Given the description of an element on the screen output the (x, y) to click on. 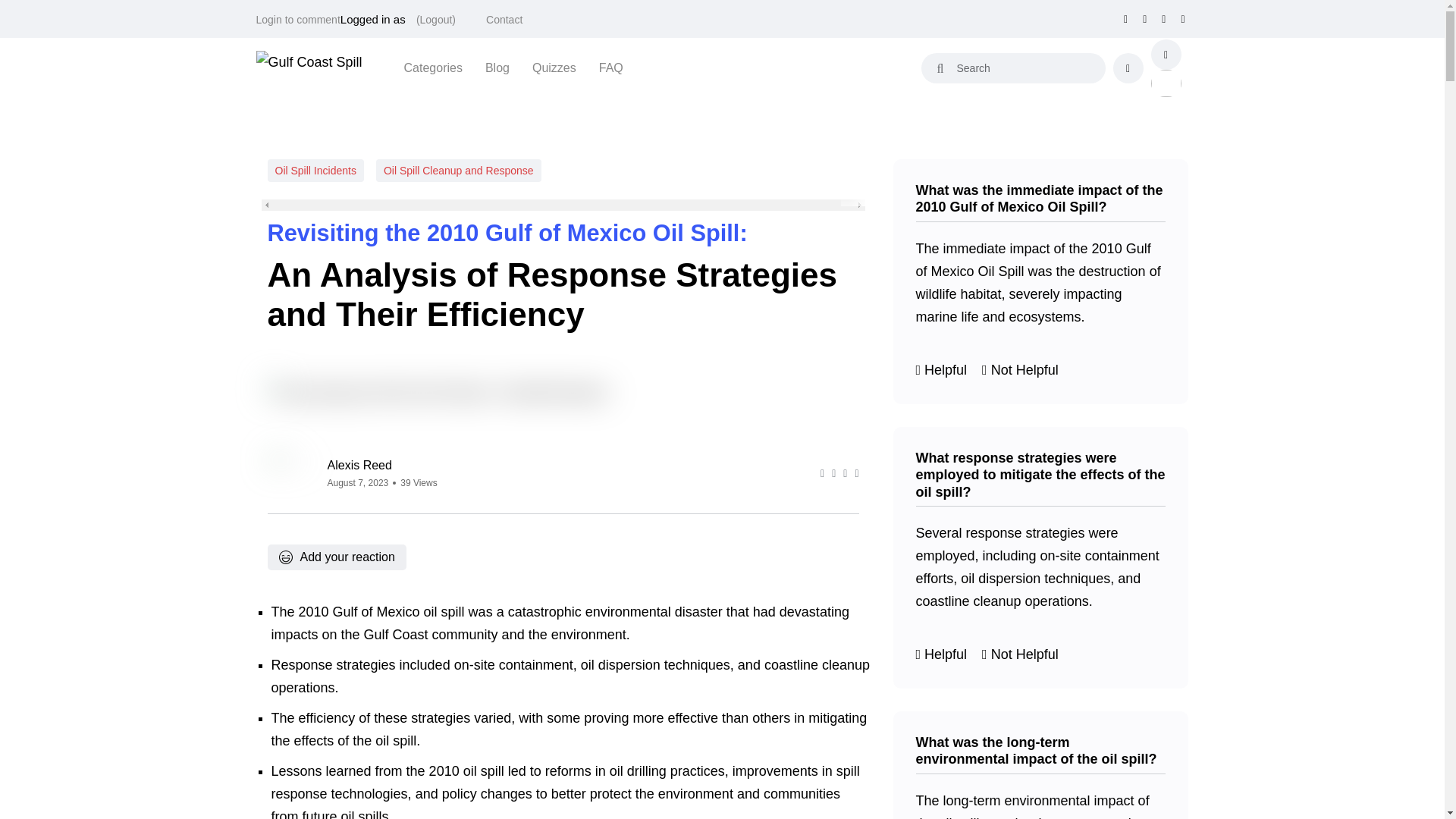
Login to comment (298, 19)
Contact (504, 19)
Categories (433, 67)
